Given the description of an element on the screen output the (x, y) to click on. 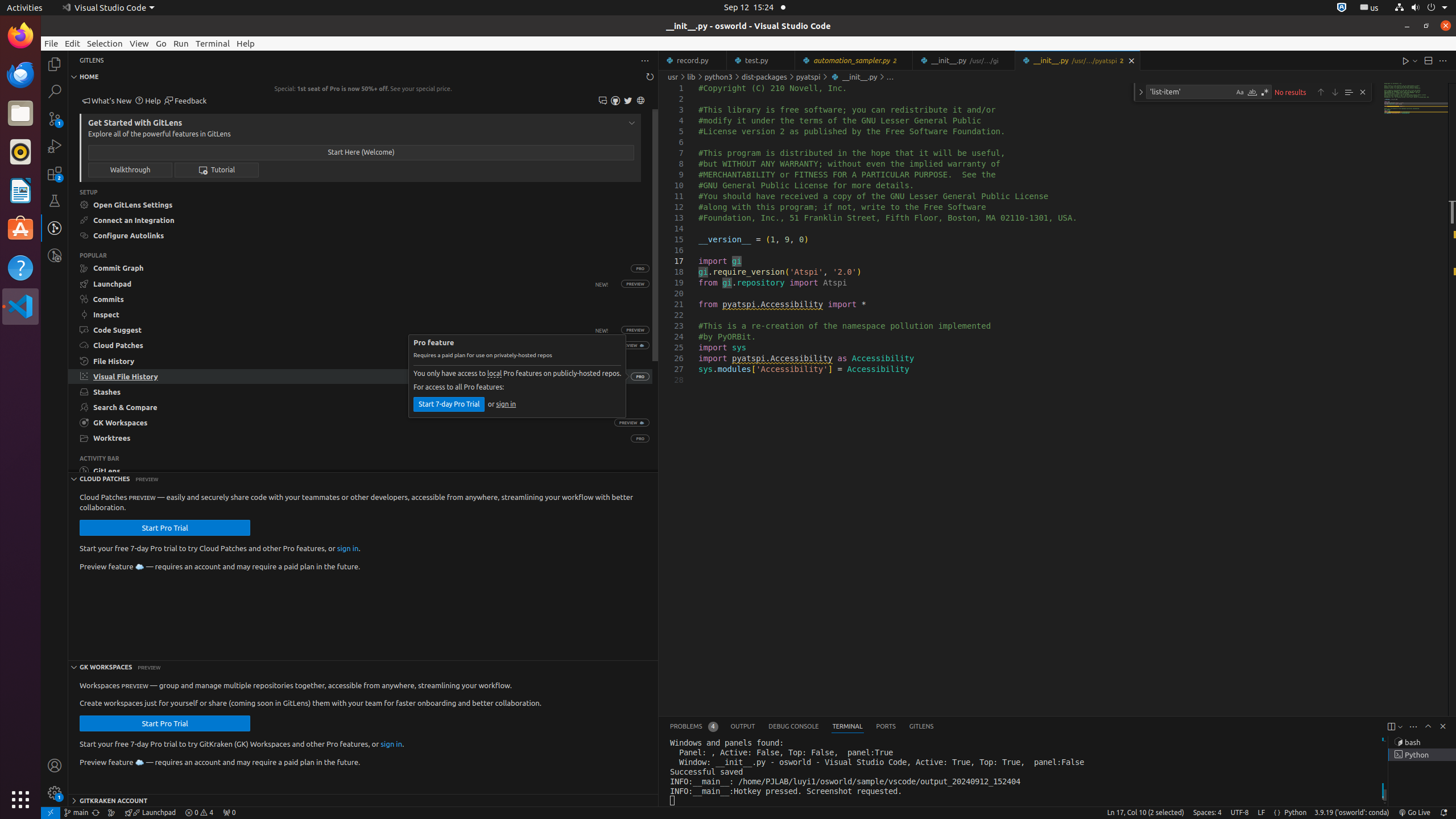
 Tutorial Element type: link (216, 169)
View Element type: push-button (139, 43)
Walkthrough Element type: link (129, 169)
broadcast Go Live, Click to run live server Element type: push-button (1414, 812)
Close (Escape) Element type: push-button (1362, 91)
